Given the description of an element on the screen output the (x, y) to click on. 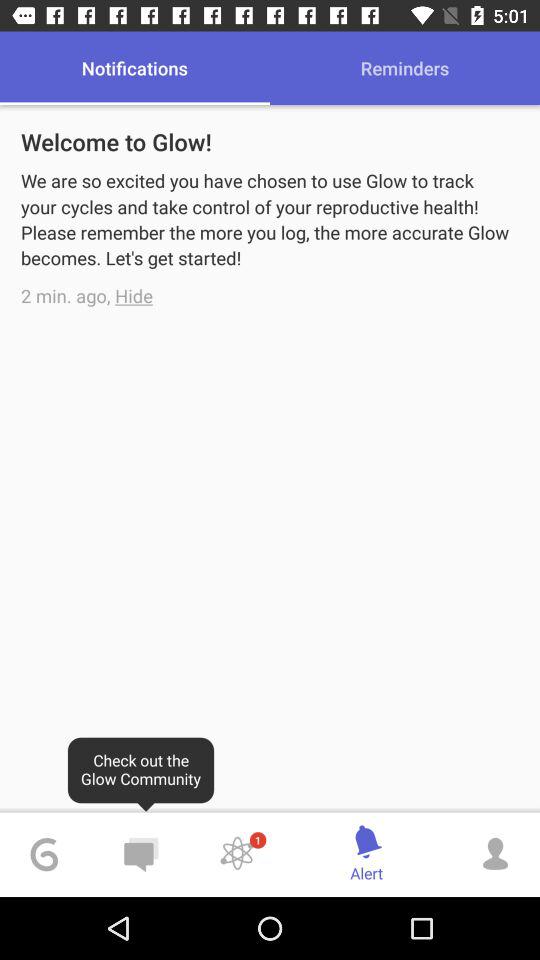
swipe until the hide (133, 295)
